Given the description of an element on the screen output the (x, y) to click on. 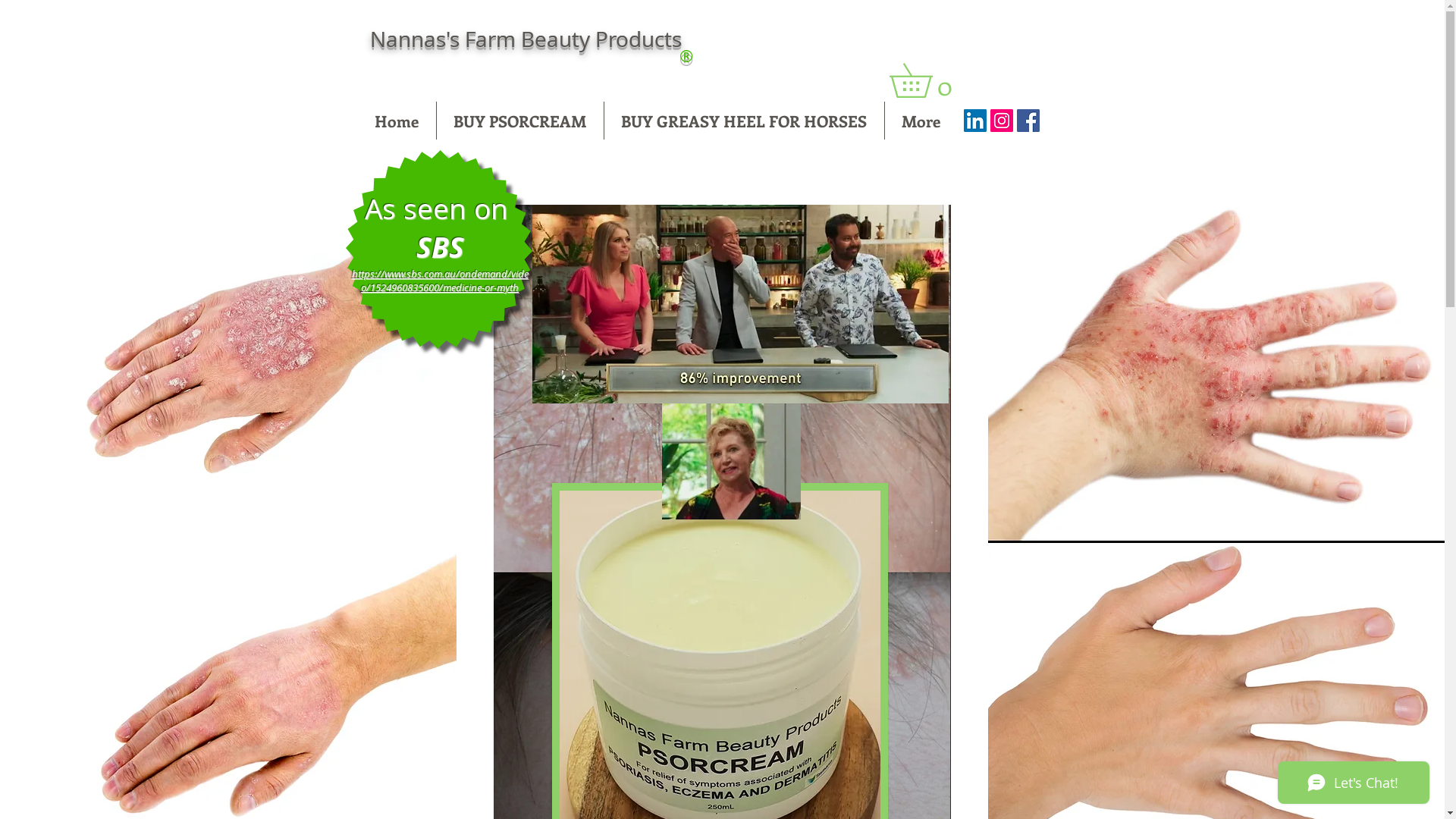
BUY GREASY HEEL FOR HORSES Element type: text (743, 120)
0 Element type: text (926, 79)
Site Search Element type: hover (973, 49)
BUY PSORCREAM Element type: text (519, 120)
Home Element type: text (395, 120)
annas's Farm Beauty Products  Element type: text (535, 39)
